Given the description of an element on the screen output the (x, y) to click on. 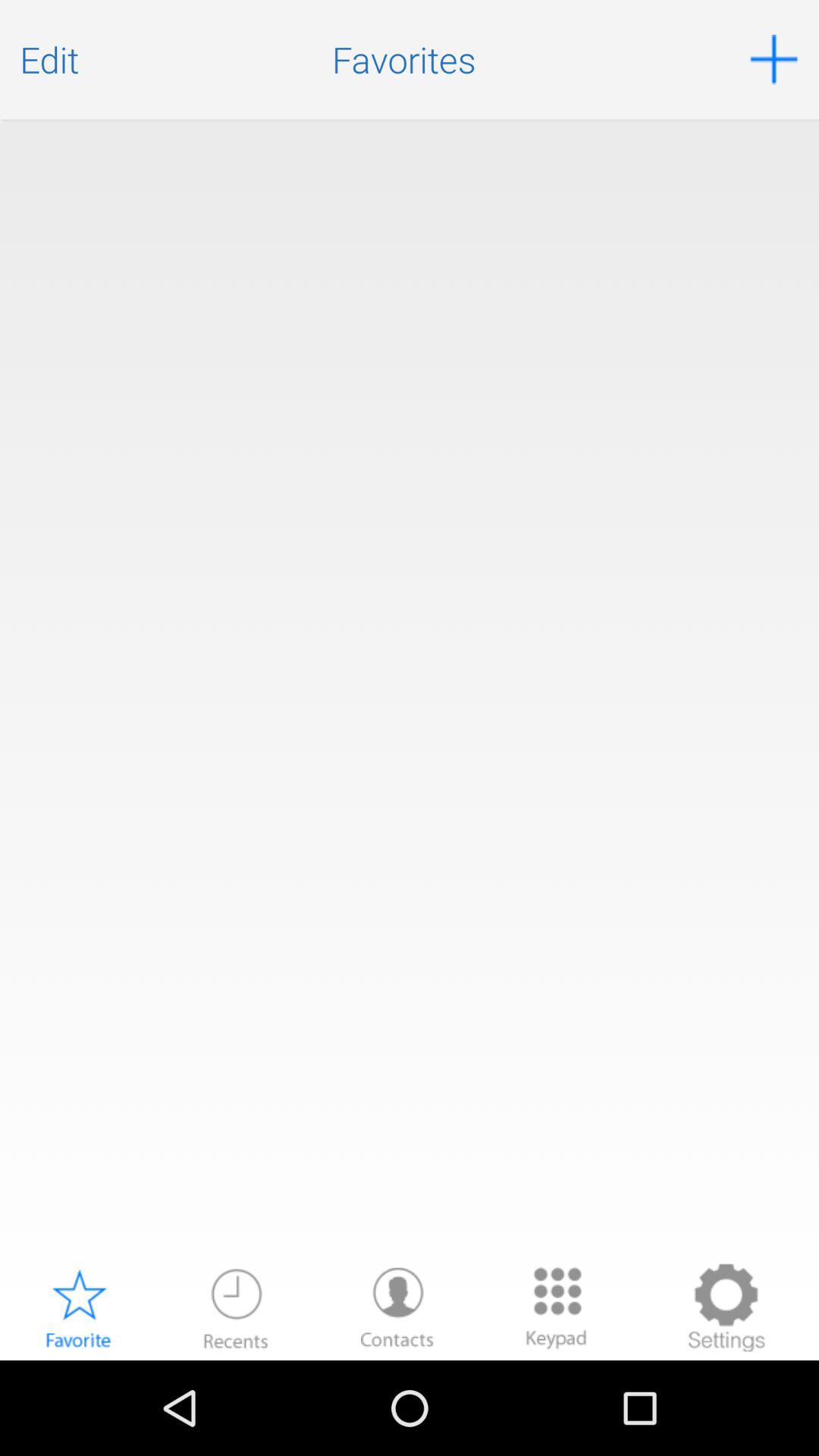
go to keypad (556, 1307)
